Given the description of an element on the screen output the (x, y) to click on. 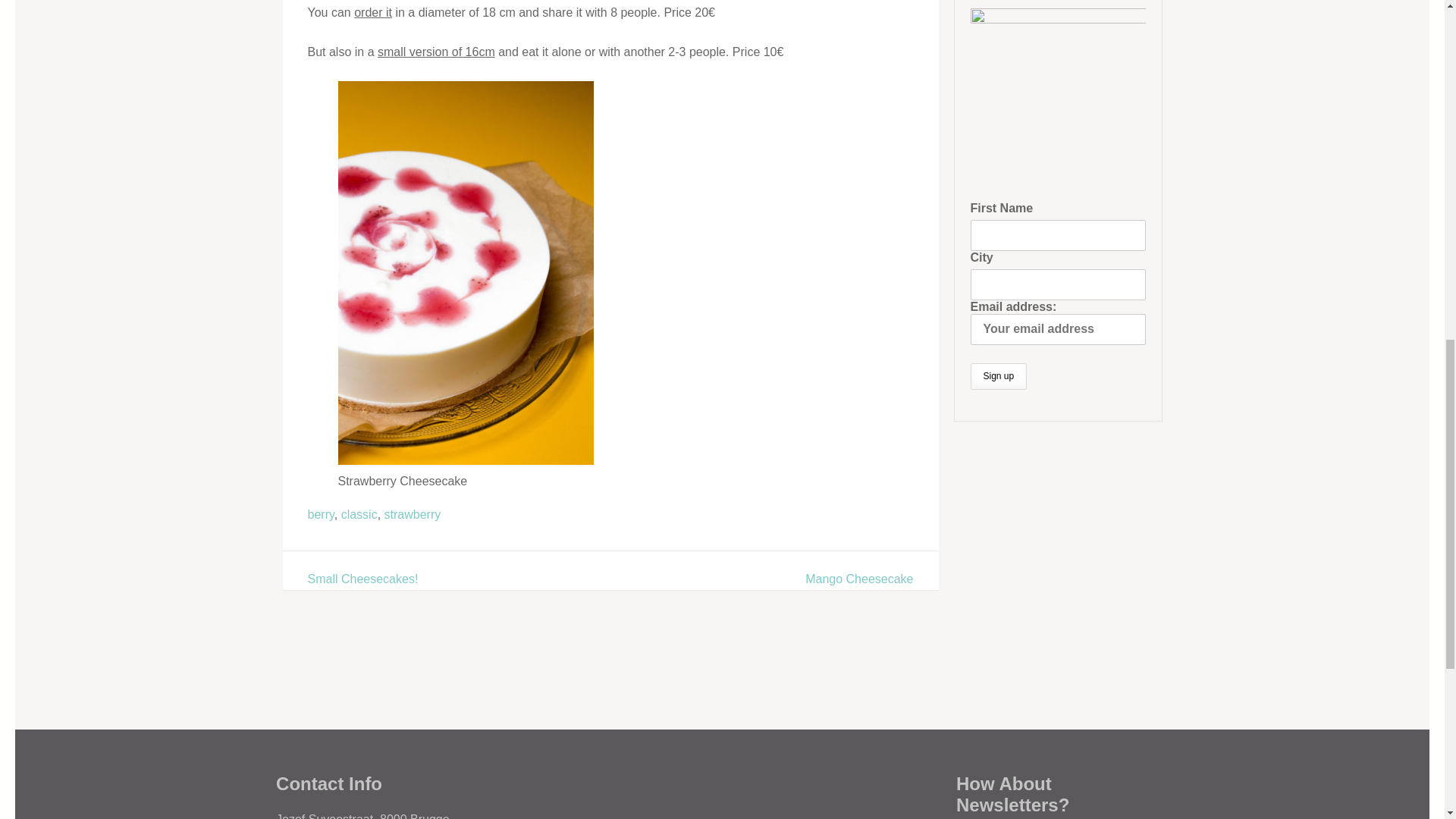
Sign up (999, 376)
